Given the description of an element on the screen output the (x, y) to click on. 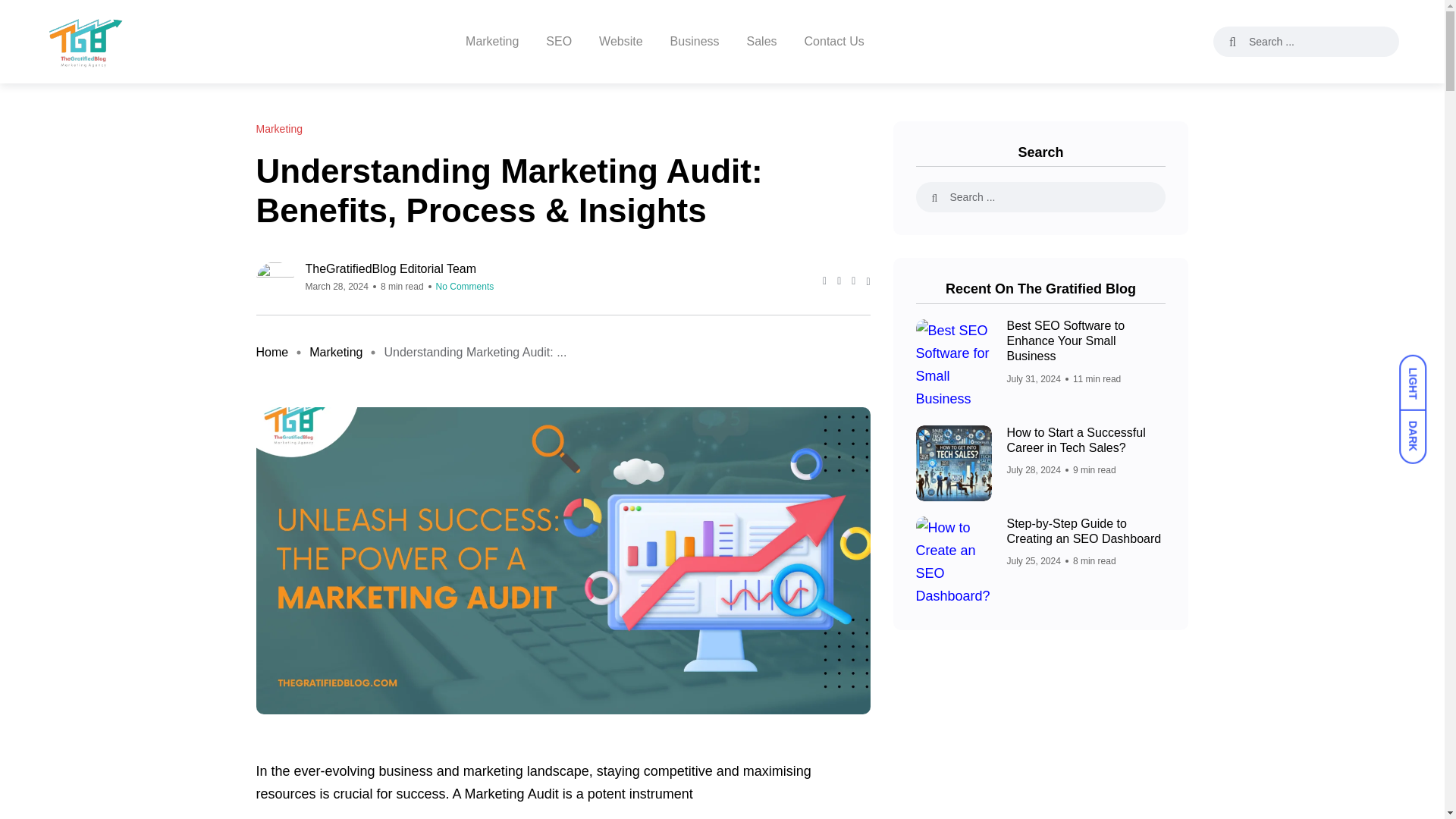
Contact Us (834, 41)
No Comments (465, 286)
TheGratifiedBlog Editorial Team (398, 268)
Home (272, 351)
Marketing (279, 128)
The Gratified Blog (84, 41)
Home (272, 351)
Dark Mode (1419, 428)
Light Mode (1420, 375)
Marketing (335, 351)
